Given the description of an element on the screen output the (x, y) to click on. 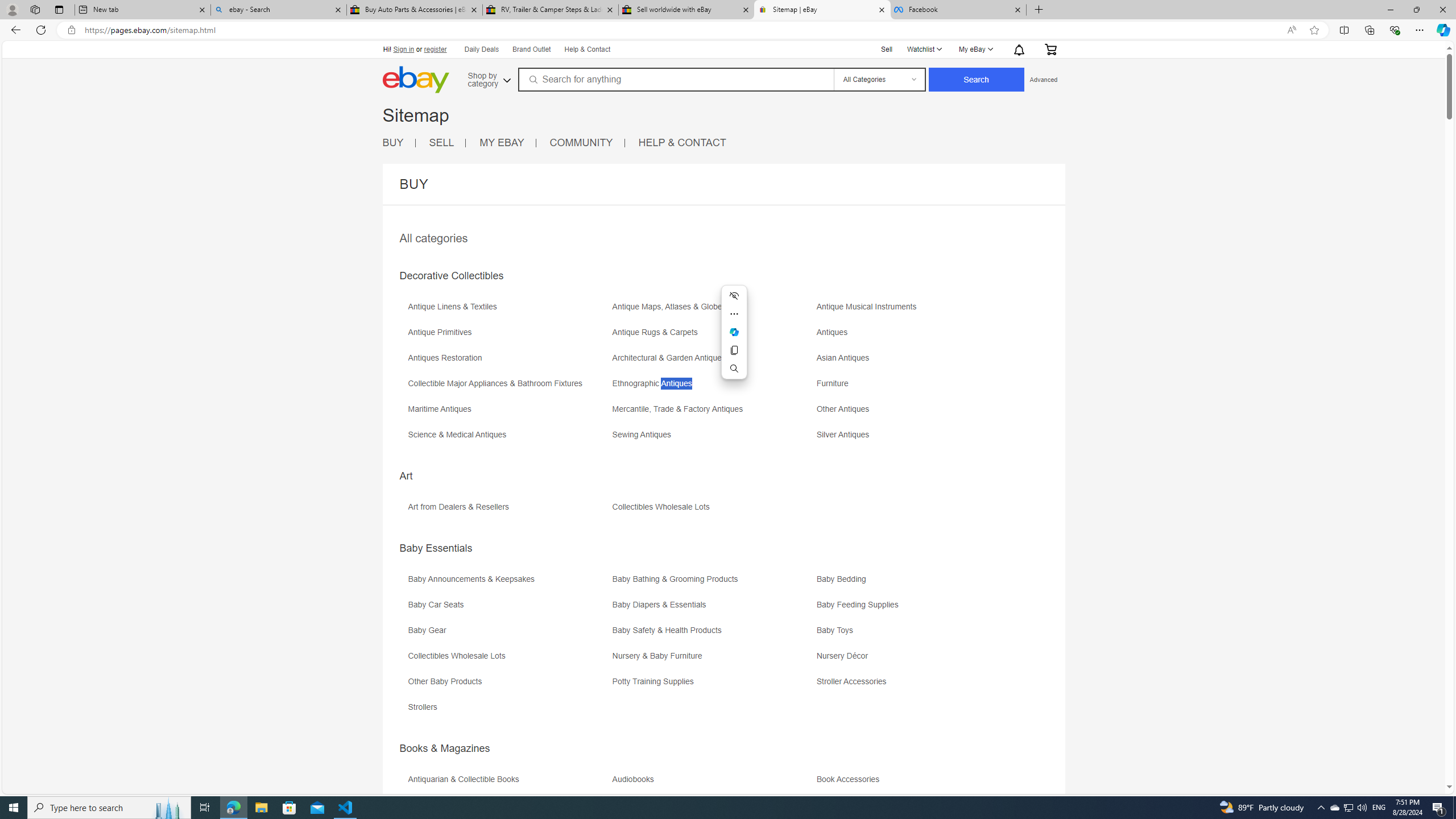
COMMUNITY (586, 142)
Baby Safety & Health Products (712, 634)
Baby Diapers & Essentials (661, 604)
Furniture (917, 387)
Maritime Antiques (442, 408)
Sewing Antiques (644, 434)
Antiques (917, 336)
WatchlistExpand Watch List (923, 49)
Mercantile, Trade & Factory Antiques (679, 408)
Your shopping cart (1049, 49)
Copy (734, 350)
Baby Bedding (917, 582)
